Given the description of an element on the screen output the (x, y) to click on. 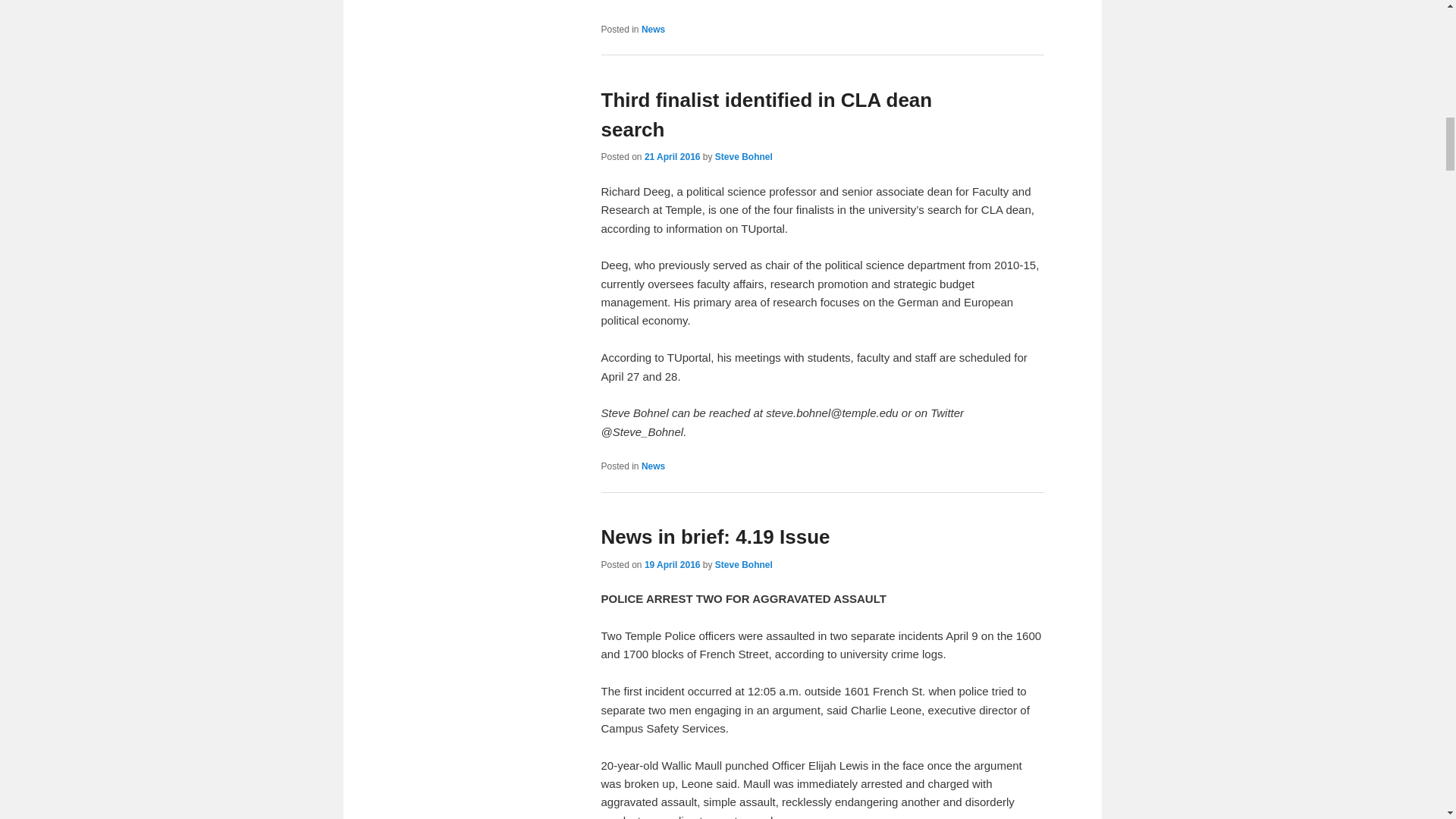
Steve Bohnel (743, 564)
21 April 2016 (672, 156)
19:03 (672, 156)
19 April 2016 (672, 564)
Steve Bohnel (743, 156)
View all posts by Steve Bohnel (743, 156)
News in brief: 4.19 Issue (714, 536)
View all posts by Steve Bohnel (743, 564)
News (653, 29)
News (653, 466)
Third finalist identified in CLA dean search (765, 114)
22:06 (672, 564)
